Given the description of an element on the screen output the (x, y) to click on. 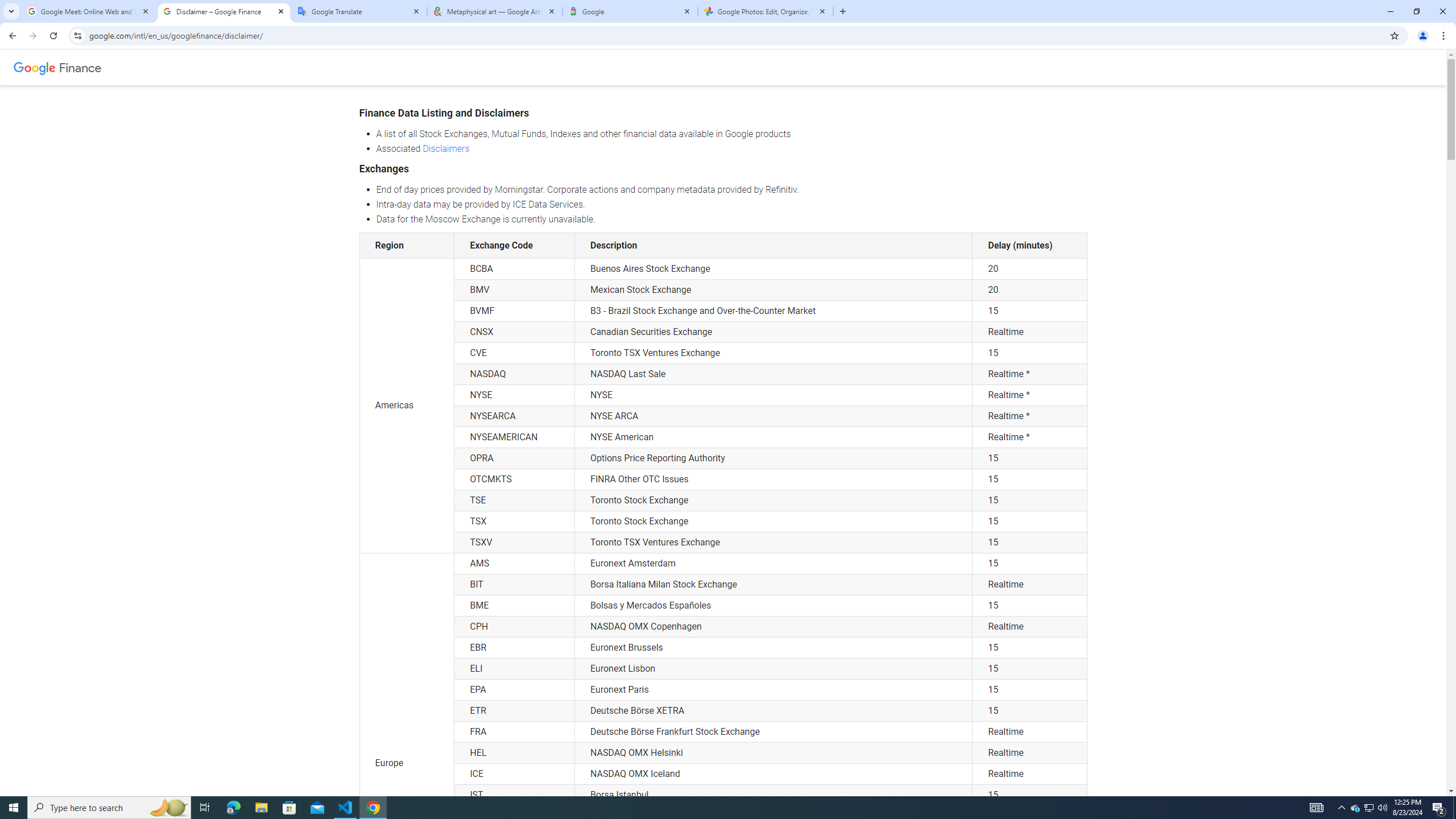
EPA (514, 689)
NYSEAMERICAN (514, 436)
Canadian Securities Exchange (773, 332)
HEL (514, 753)
Euronext Brussels (773, 647)
Finance (80, 67)
